Given the description of an element on the screen output the (x, y) to click on. 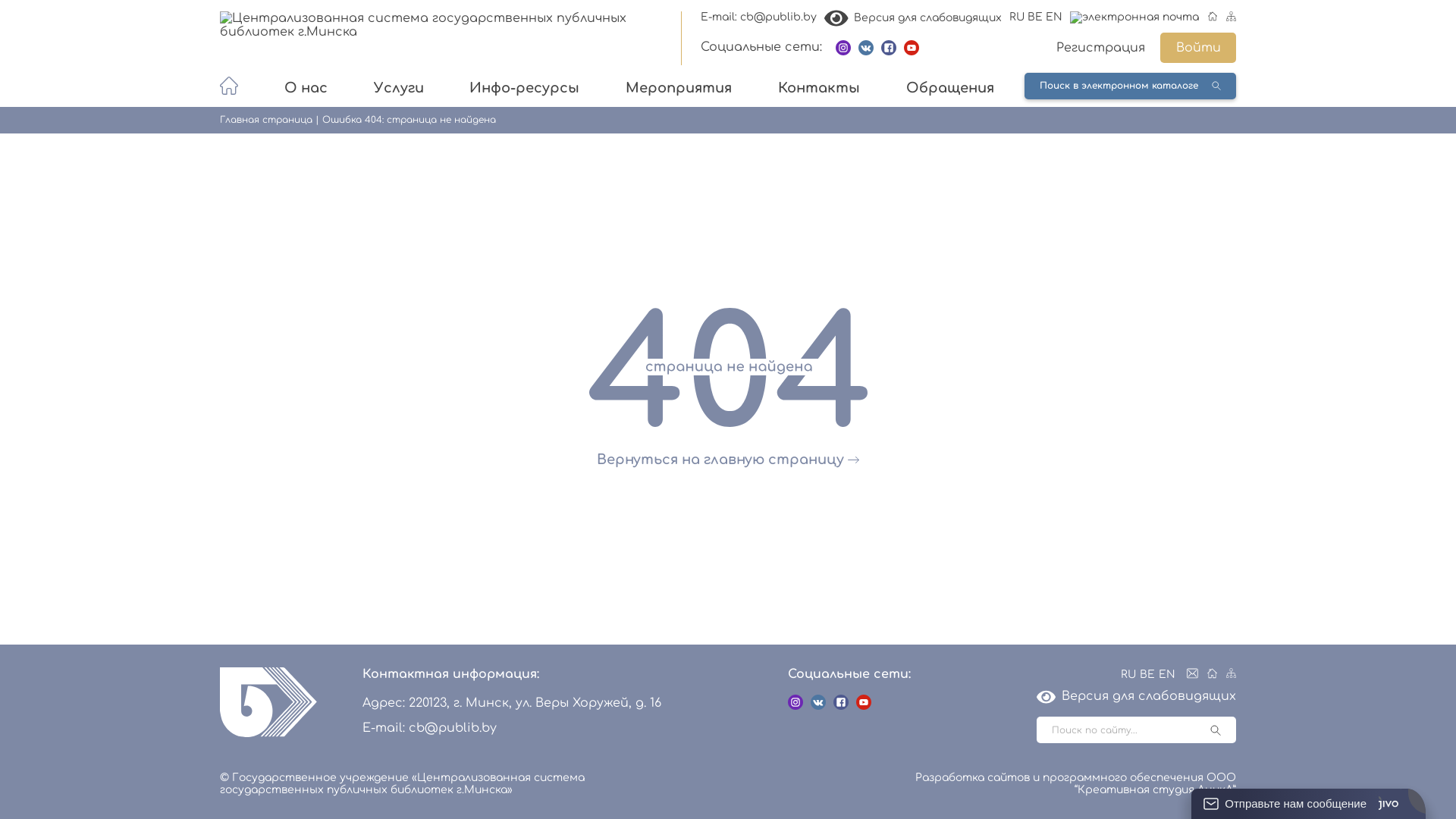
EN Element type: text (1166, 674)
BE Element type: text (1034, 16)
EN Element type: text (1053, 16)
. Element type: text (228, 85)
BE Element type: text (1146, 674)
RU Element type: text (1016, 16)
RU Element type: text (1127, 674)
E-mail: cb@publib.by Element type: text (429, 727)
E-mail: cb@publib.by Element type: text (758, 17)
